Given the description of an element on the screen output the (x, y) to click on. 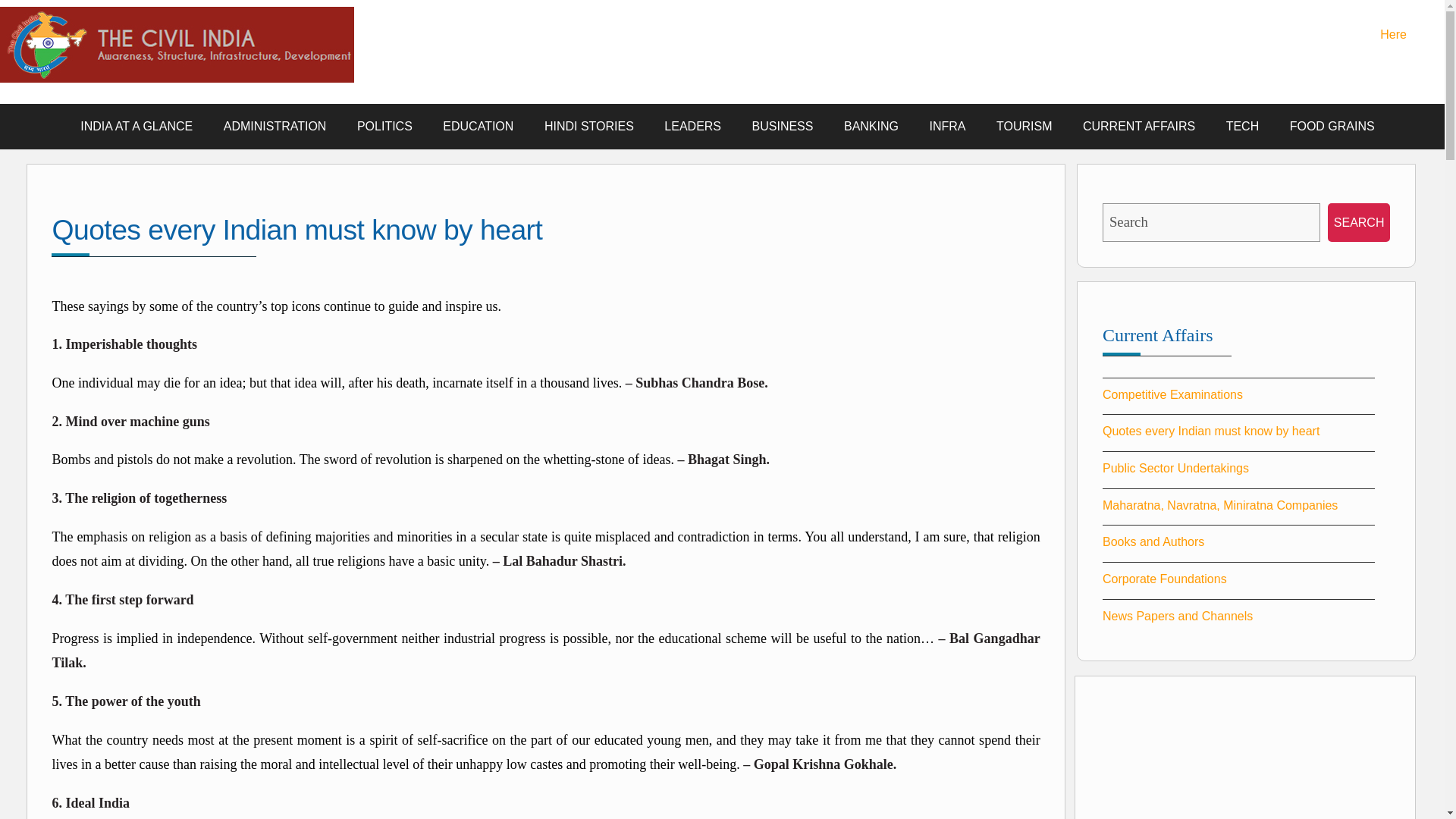
EDUCATION (478, 126)
BANKING (871, 126)
CURRENT AFFAIRS (1138, 126)
INDIA AT A GLANCE (136, 126)
INFRA (946, 126)
POLITICS (385, 126)
HINDI STORIES (589, 126)
TOURISM (1024, 126)
LEADERS (692, 126)
BUSINESS (782, 126)
